Given the description of an element on the screen output the (x, y) to click on. 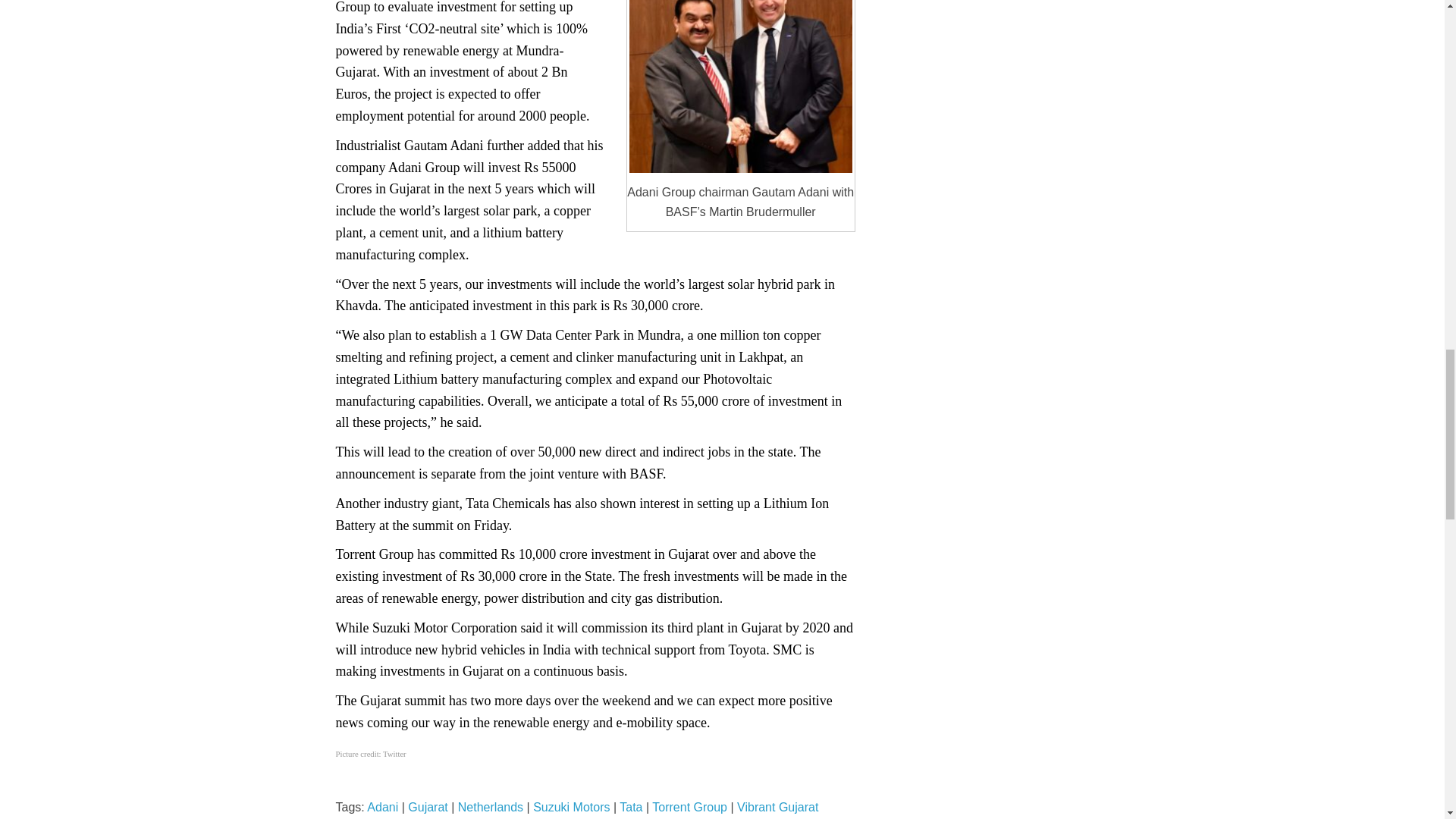
Gujarat (426, 807)
Suzuki Motors (571, 807)
Netherlands (490, 807)
Adani (381, 807)
Torrent Group (689, 807)
Vibrant Gujarat Summit (576, 809)
Tata (631, 807)
